Given the description of an element on the screen output the (x, y) to click on. 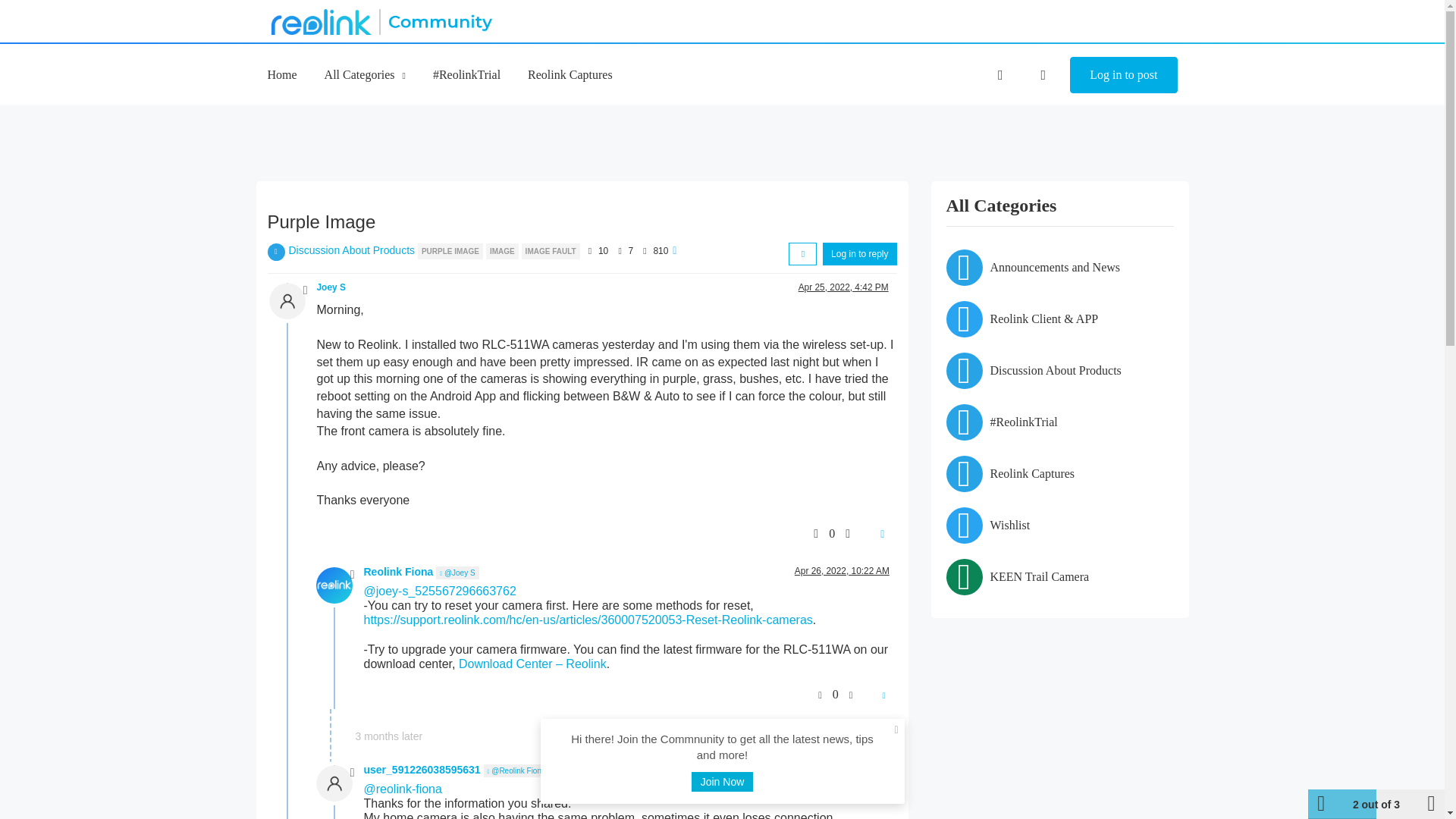
Posts (620, 250)
All Categories (365, 74)
PURPLE IMAGE (451, 250)
10 (603, 250)
Log in to reply (859, 253)
810 (660, 250)
Apr 25, 2022, 4:42 PM (842, 286)
IMAGE (503, 250)
IMAGE FAULT (550, 250)
Reolink Captures (569, 74)
